Given the description of an element on the screen output the (x, y) to click on. 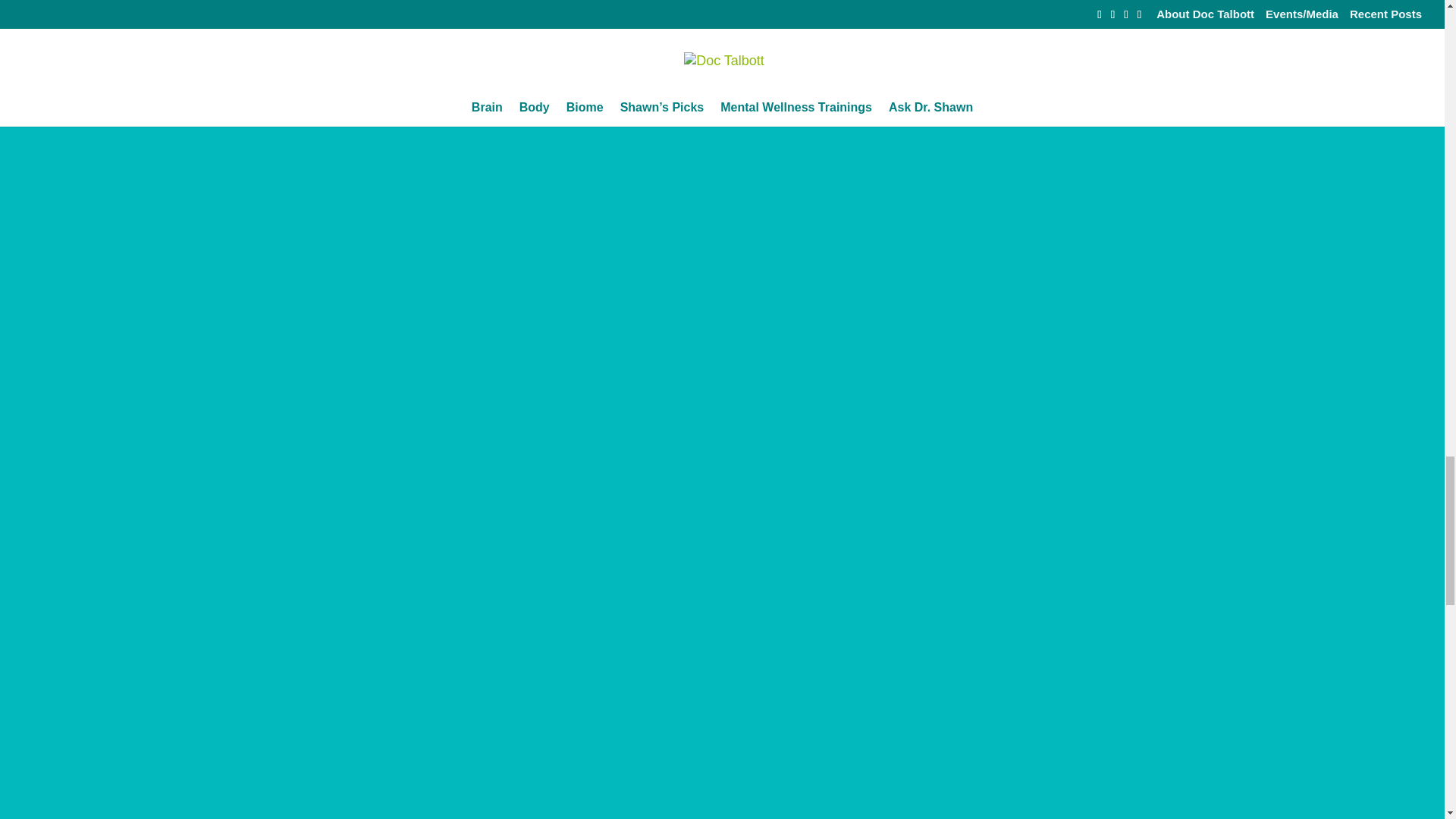
KUSA TV Denver - Dr. Shawn Talbott talks E.Coli (505, 674)
